Given the description of an element on the screen output the (x, y) to click on. 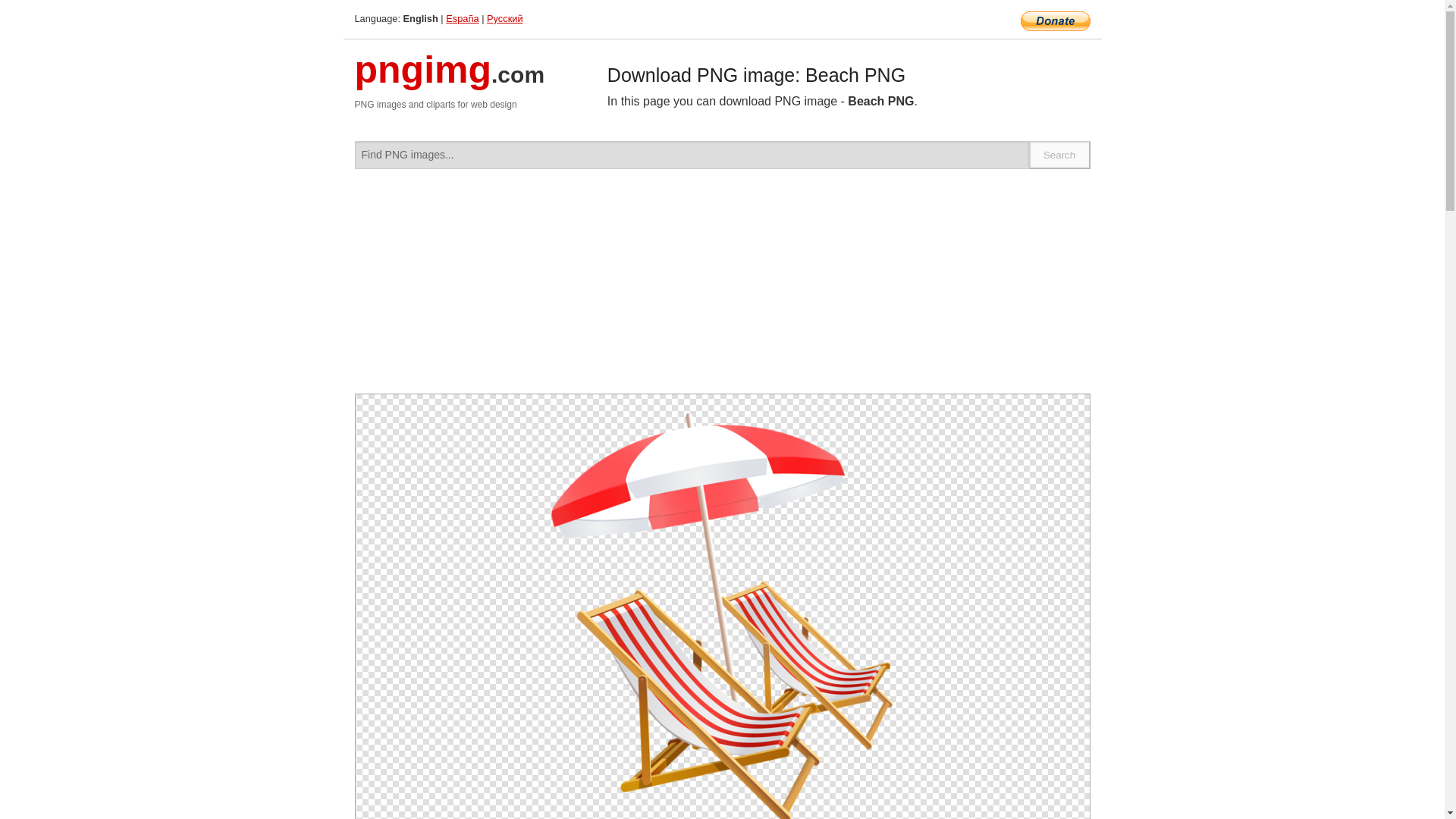
Search (1059, 154)
pngimg.com (449, 78)
Search (1059, 154)
